Given the description of an element on the screen output the (x, y) to click on. 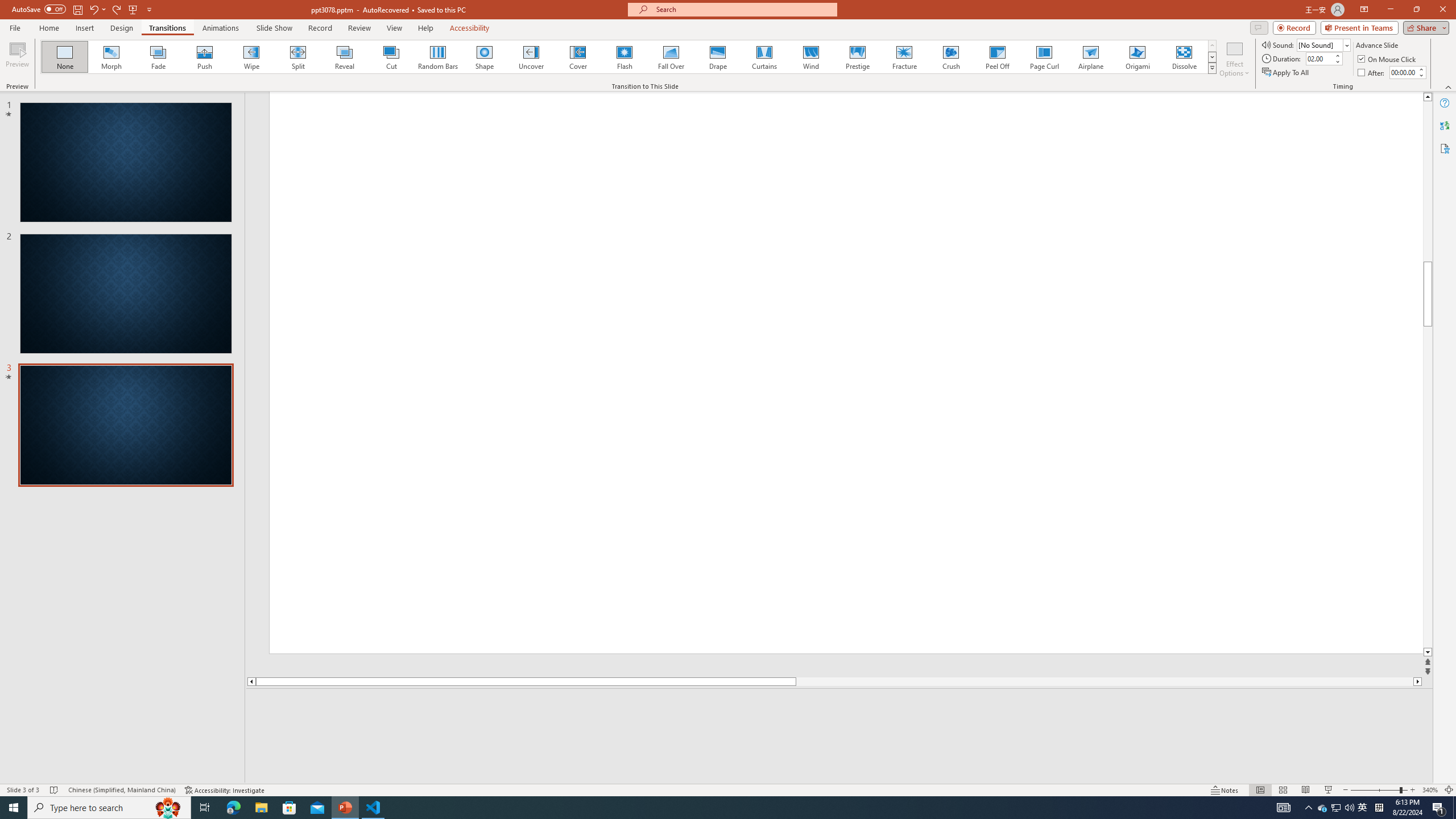
Airplane (1090, 56)
Apply To All (1286, 72)
Prestige (857, 56)
Dissolve (1183, 56)
Transition Effects (1212, 67)
After (1403, 72)
Fracture (903, 56)
None (65, 56)
